Given the description of an element on the screen output the (x, y) to click on. 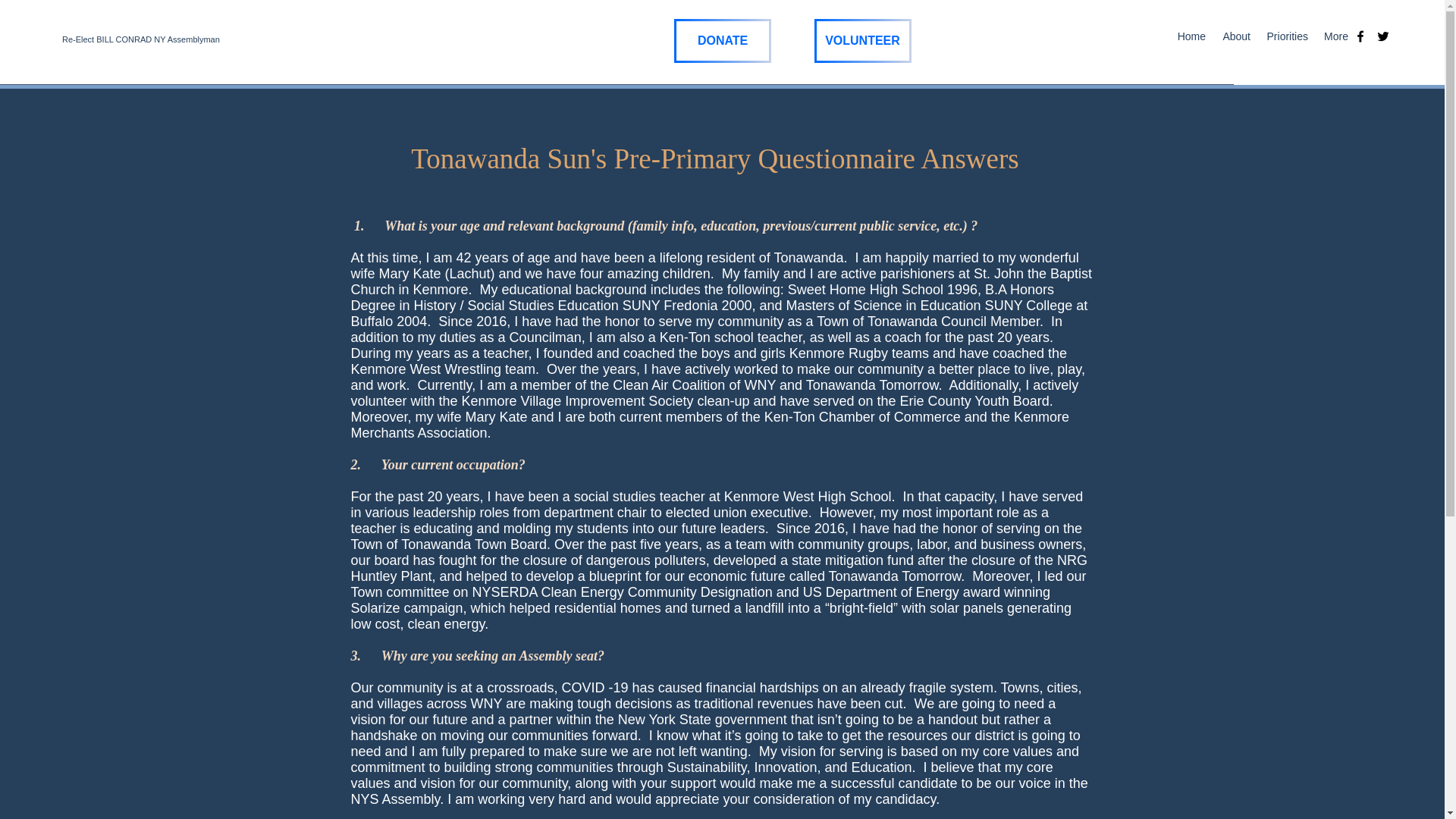
About (1234, 36)
Home (1190, 36)
VOLUNTEER (862, 40)
Priorities (1286, 36)
DONATE (722, 40)
